Given the description of an element on the screen output the (x, y) to click on. 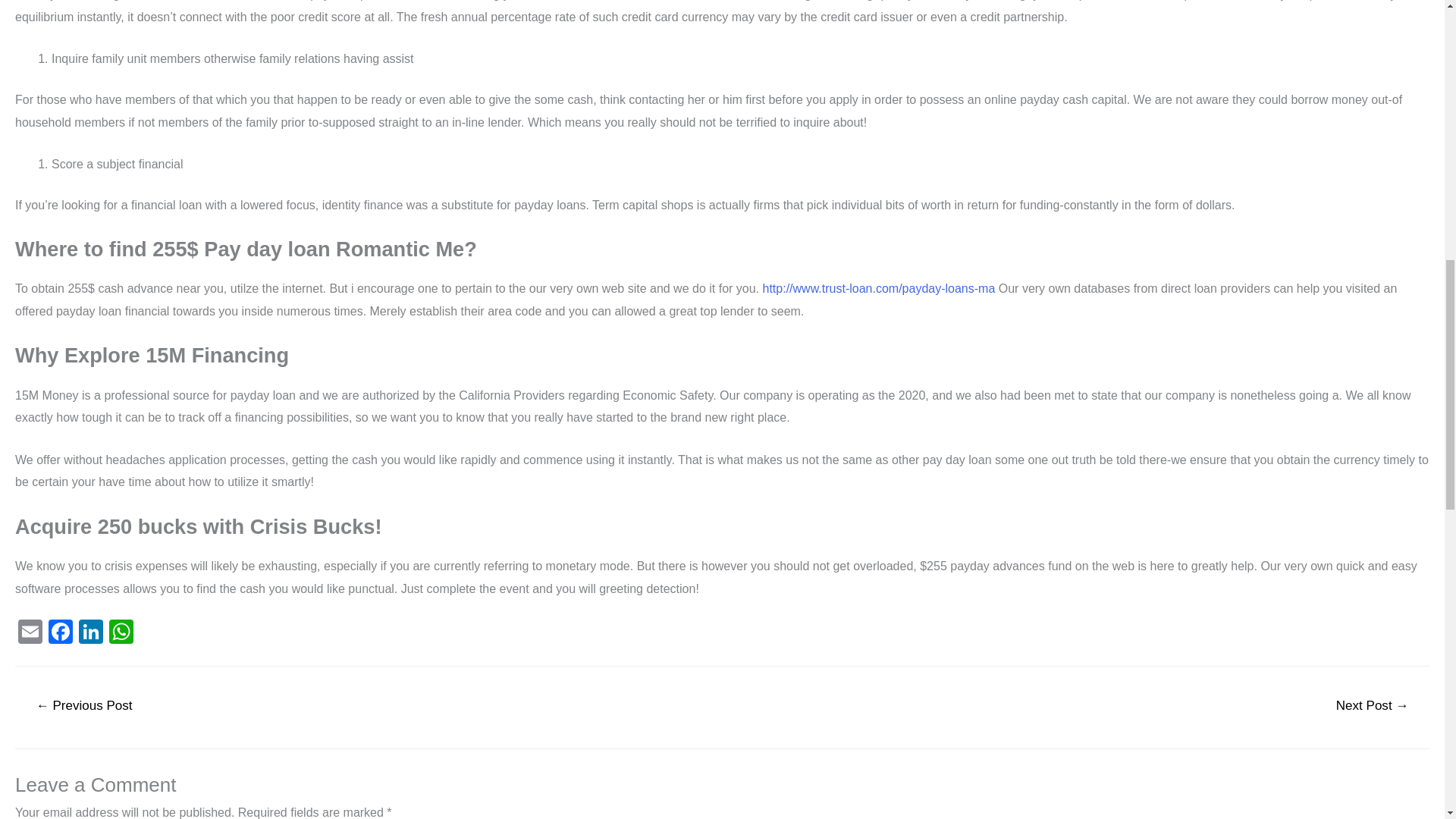
LinkedIn (90, 633)
LinkedIn (90, 633)
Facebook (60, 633)
WhatsApp (121, 633)
Email (29, 633)
WhatsApp (121, 633)
Email (29, 633)
Facebook (60, 633)
